Given the description of an element on the screen output the (x, y) to click on. 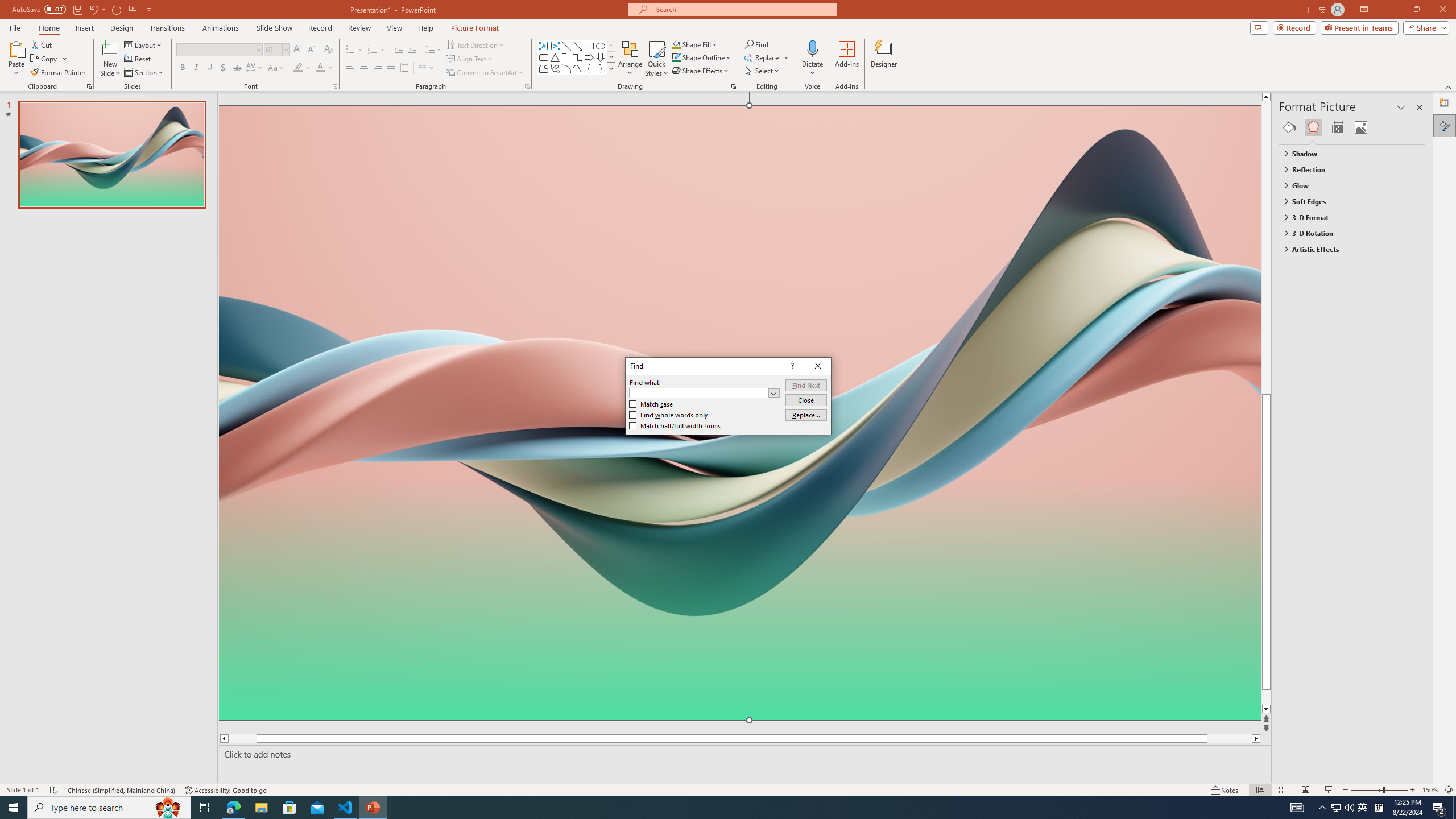
Class: NetUIImage (610, 68)
Text Box (543, 45)
Increase Indent (412, 49)
3-D Format (1347, 217)
Close (818, 366)
Review (359, 28)
Picture Format (475, 28)
Find... (756, 44)
Office Clipboard... (88, 85)
Design (122, 28)
Right Brace (600, 68)
Layout (143, 44)
PowerPoint - 1 running window (373, 807)
Numbering (376, 49)
AutomationID: 4105 (1297, 807)
